Given the description of an element on the screen output the (x, y) to click on. 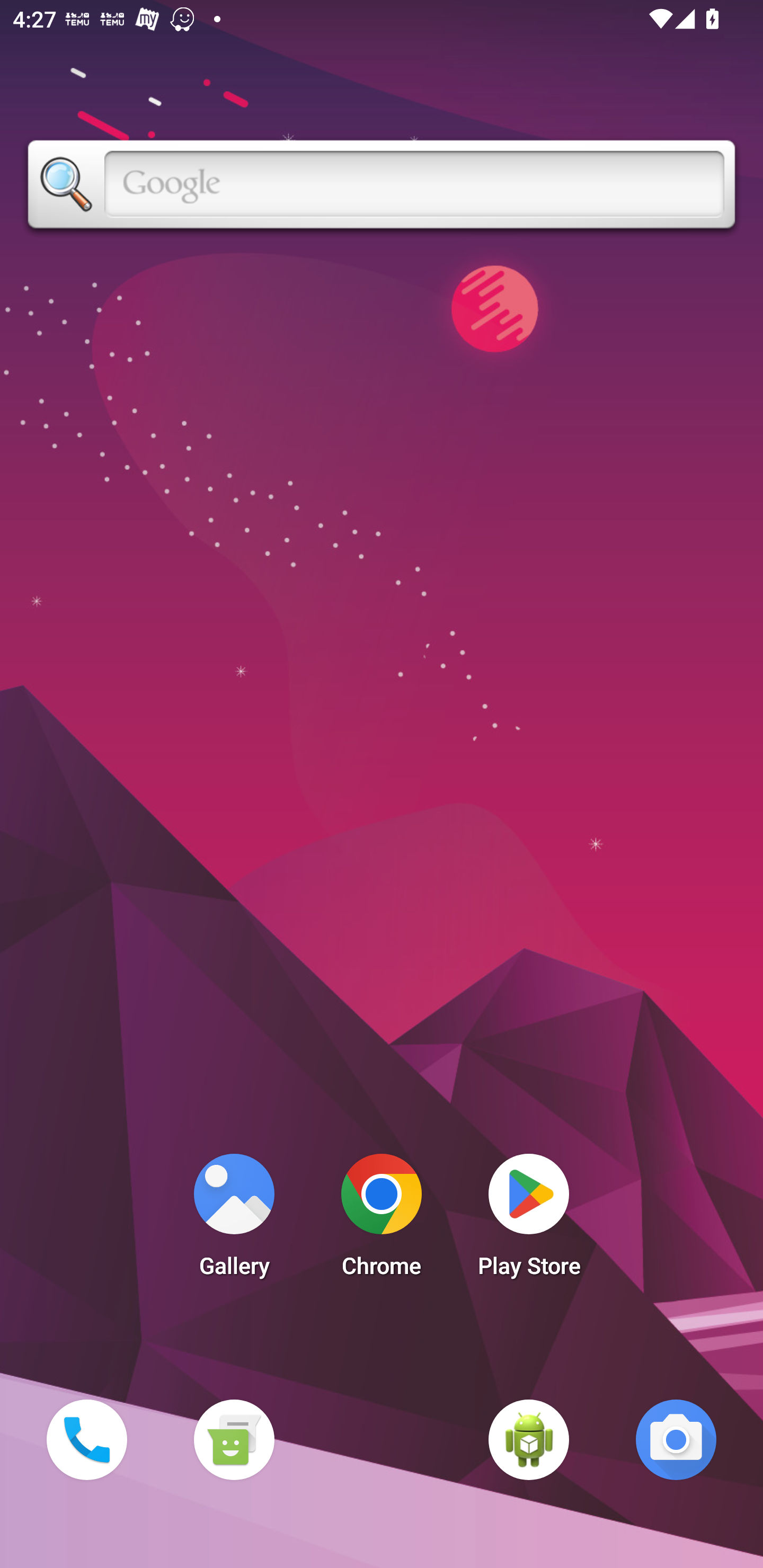
Gallery (233, 1220)
Chrome (381, 1220)
Play Store (528, 1220)
Phone (86, 1439)
Messaging (233, 1439)
WebView Browser Tester (528, 1439)
Camera (676, 1439)
